Given the description of an element on the screen output the (x, y) to click on. 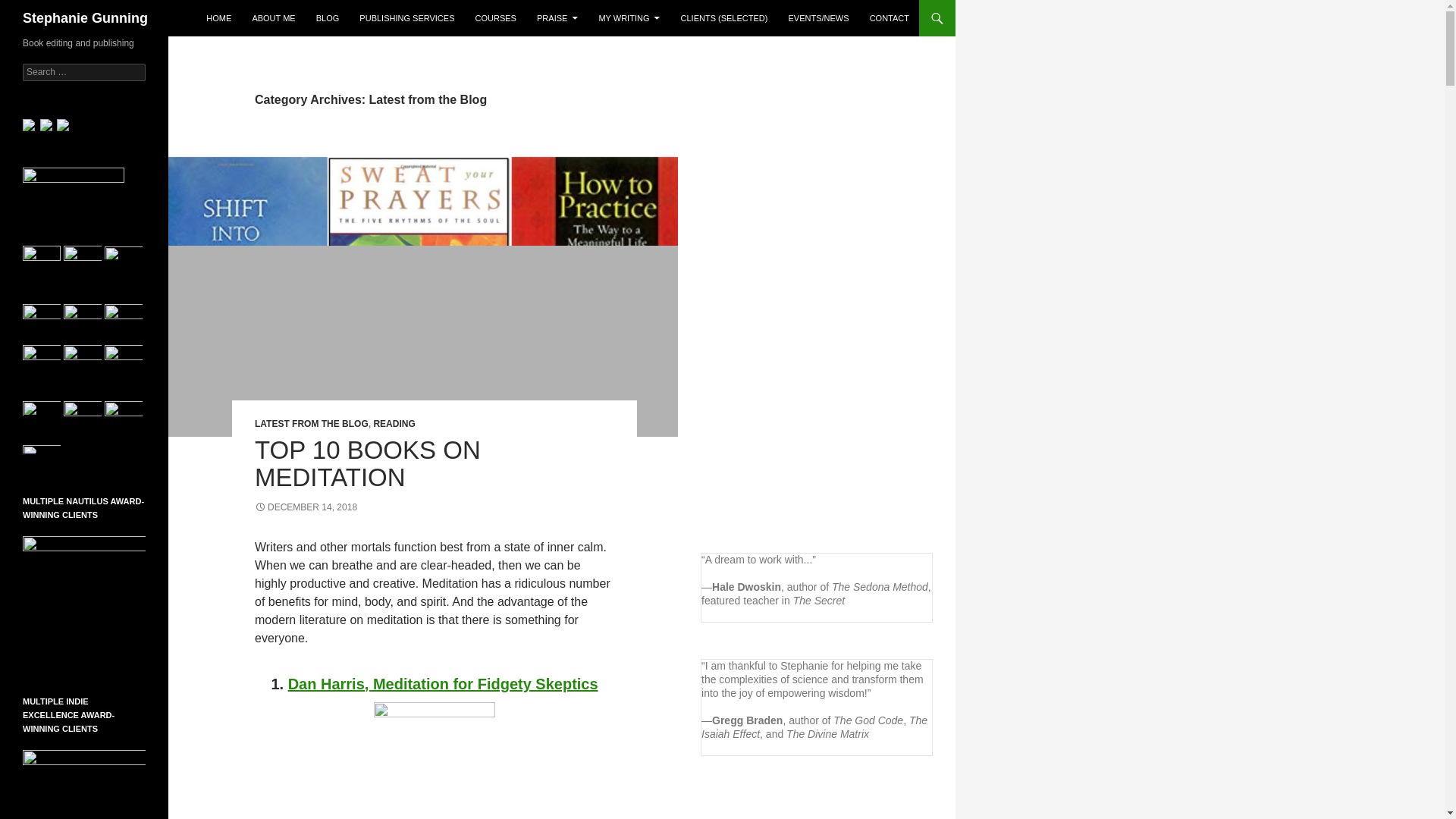
HOME (218, 18)
BLOG (328, 18)
COURSES (495, 18)
Stephanie Gunning (85, 18)
TOP 10 BOOKS ON MEDITATION (367, 463)
MY WRITING (628, 18)
ABOUT ME (273, 18)
Dan Harris, Meditation for Fidgety Skeptics (443, 683)
PRAISE (556, 18)
DECEMBER 14, 2018 (305, 507)
